Given the description of an element on the screen output the (x, y) to click on. 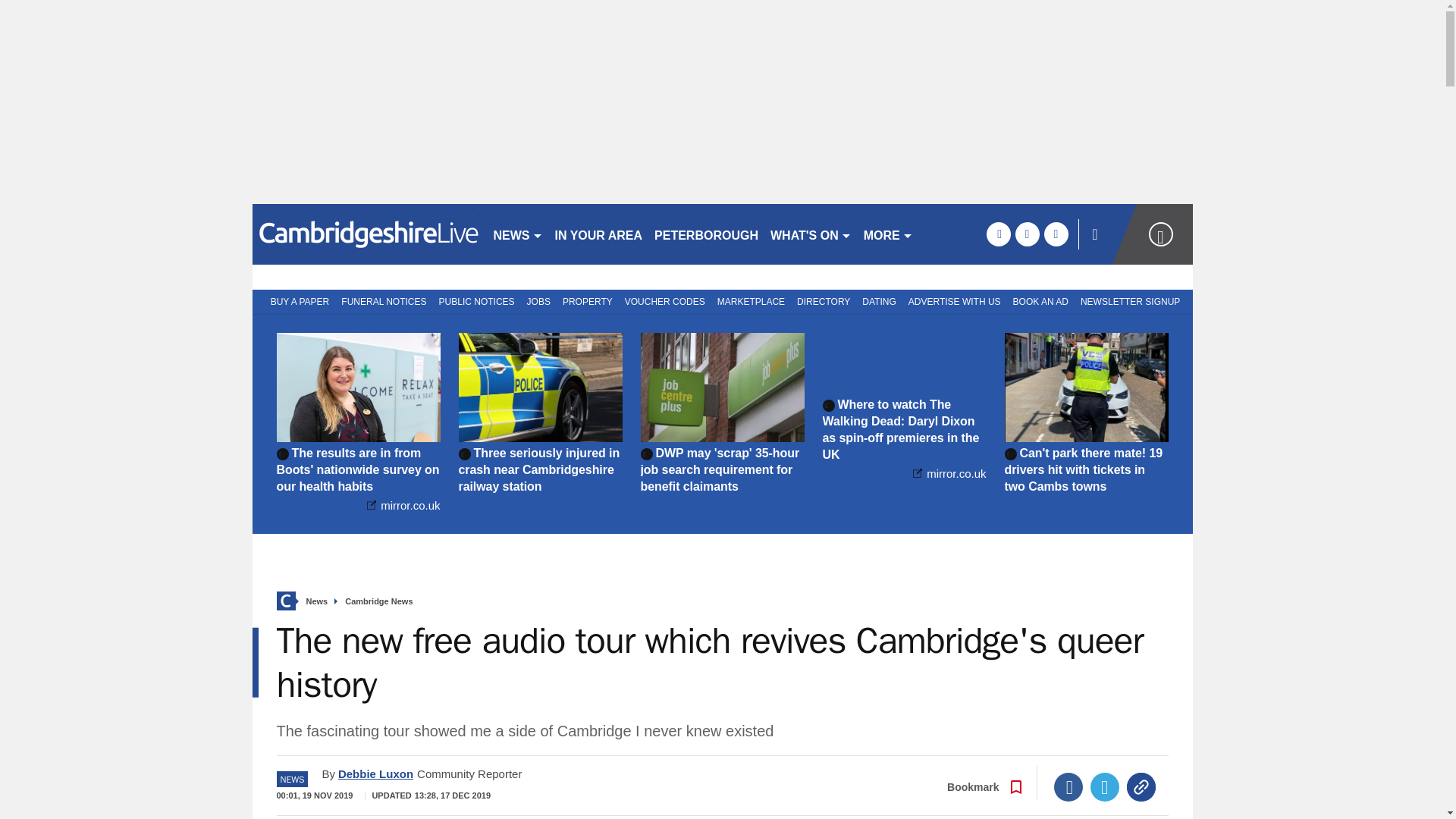
Facebook (1068, 787)
NEWS (517, 233)
IN YOUR AREA (598, 233)
instagram (1055, 233)
twitter (1026, 233)
cambridgenews (365, 233)
facebook (997, 233)
Twitter (1104, 787)
WHAT'S ON (810, 233)
PETERBOROUGH (705, 233)
